Given the description of an element on the screen output the (x, y) to click on. 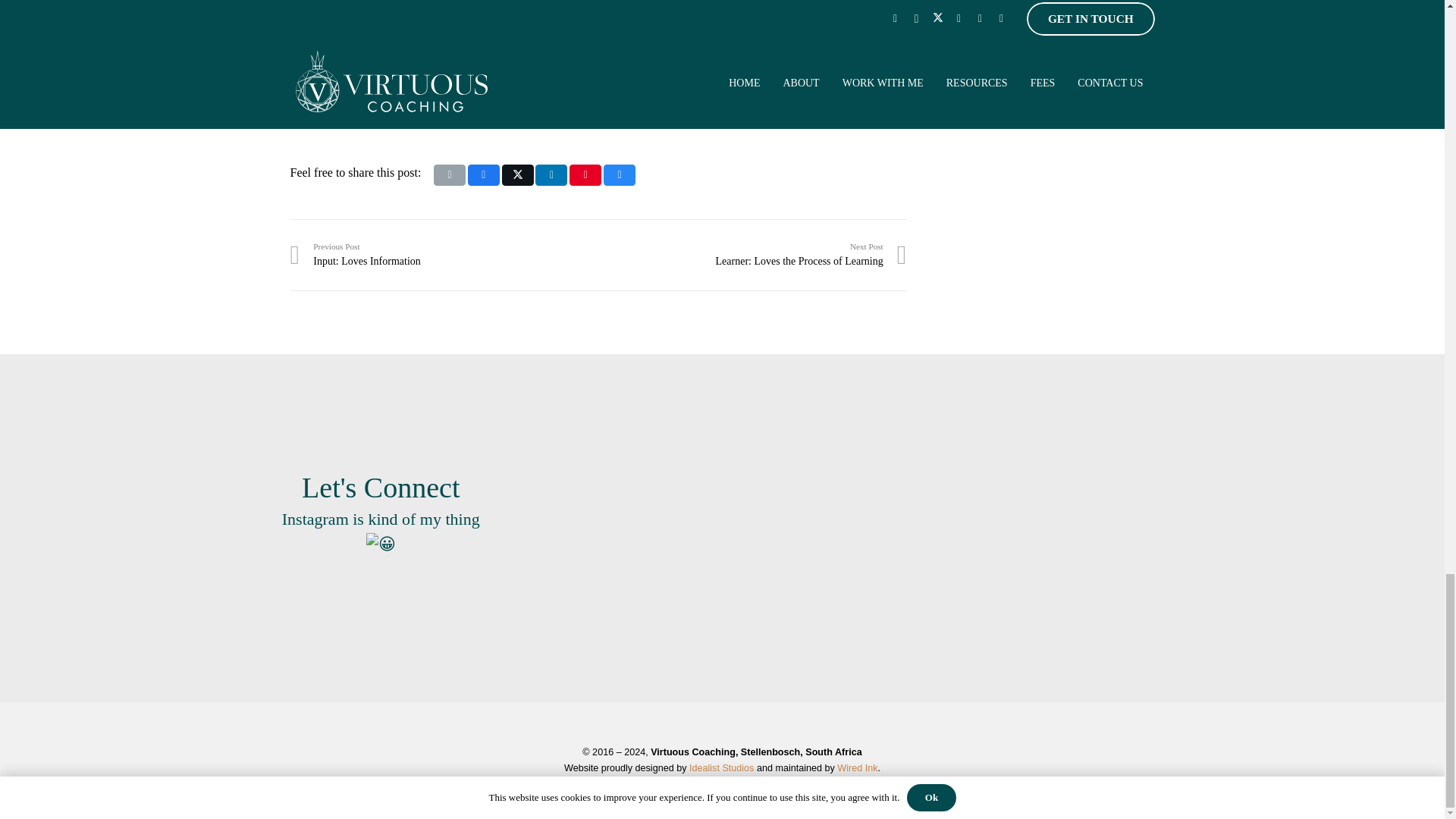
Share this (619, 174)
Email this (443, 254)
Share this (449, 174)
Share this (551, 174)
Input: Loves Information (752, 254)
Tweet this (483, 174)
Pin this (443, 254)
